Given the description of an element on the screen output the (x, y) to click on. 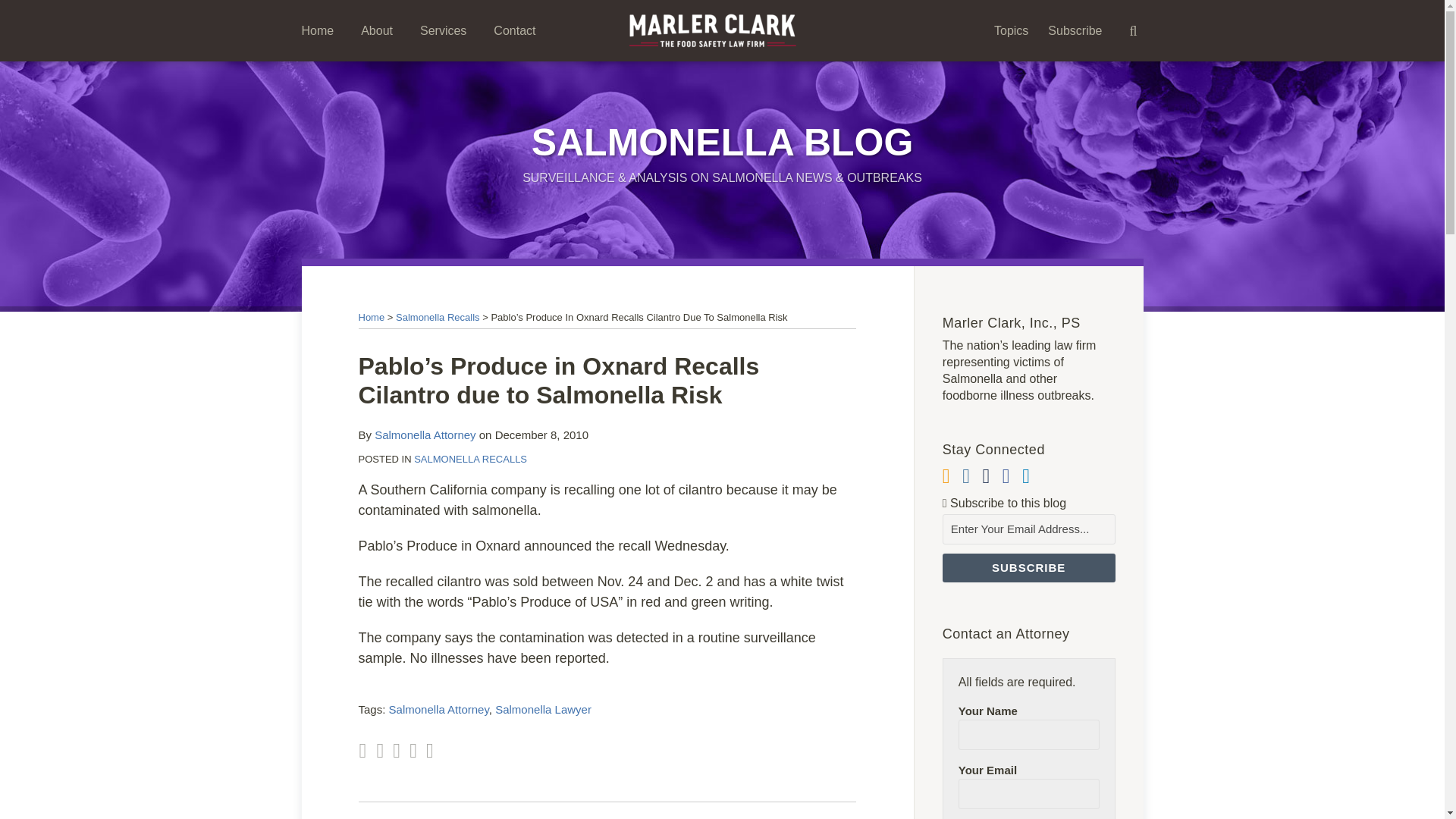
Contact (514, 30)
SALMONELLA BLOG (722, 142)
Salmonella Lawyer (543, 708)
SALMONELLA RECALLS (470, 459)
Salmonella Recalls (438, 317)
Topics (1010, 30)
Subscribe (1075, 30)
Salmonella Attorney (438, 708)
Home (371, 317)
Subscribe (1028, 567)
Salmonella Attorney (425, 434)
Subscribe (1028, 567)
Home (317, 30)
Services (442, 30)
About (377, 30)
